Given the description of an element on the screen output the (x, y) to click on. 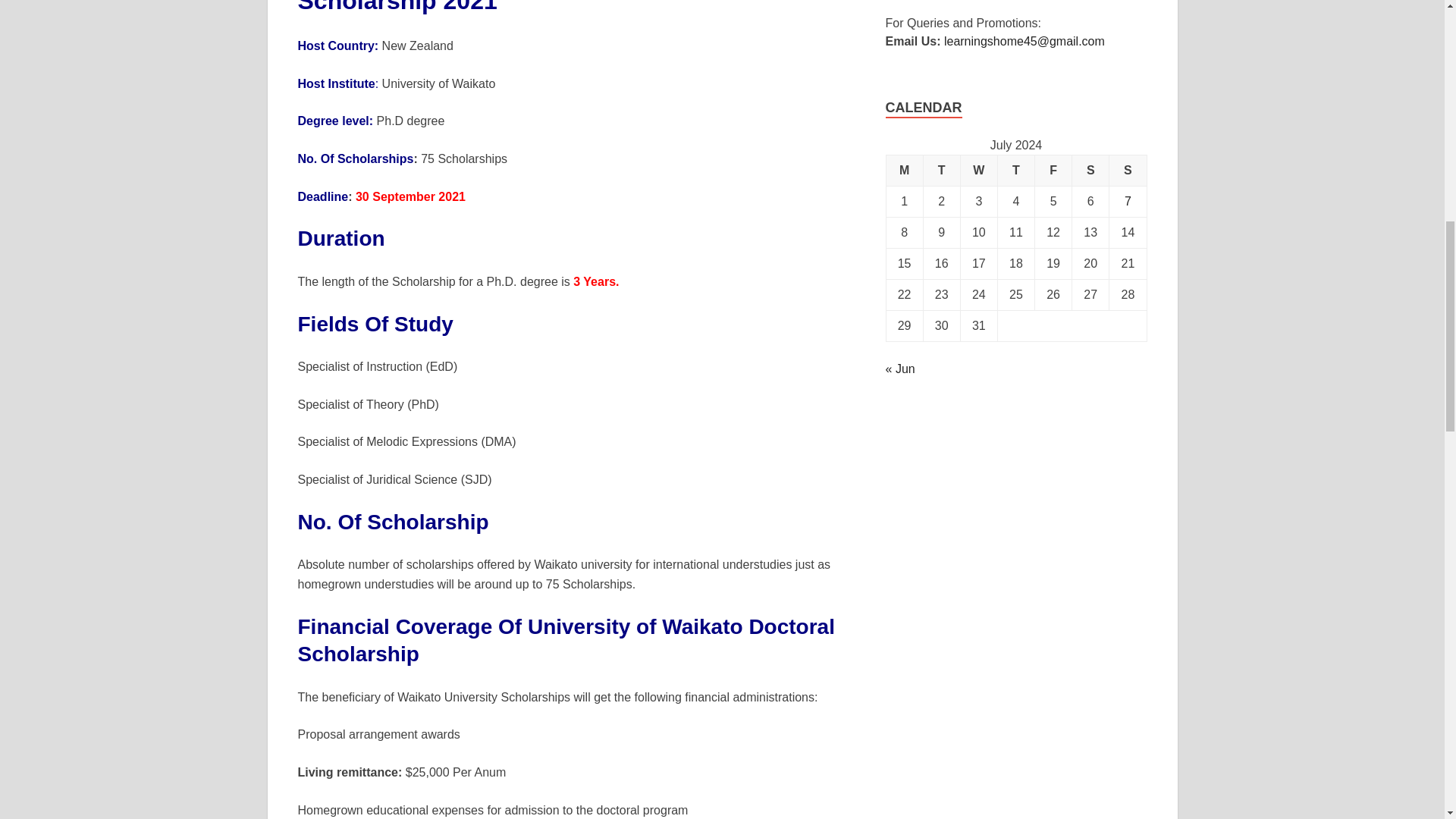
Monday (904, 170)
Thursday (1015, 170)
Tuesday (941, 170)
Sunday (1128, 170)
Friday (1053, 170)
Saturday (1090, 170)
Wednesday (978, 170)
